Given the description of an element on the screen output the (x, y) to click on. 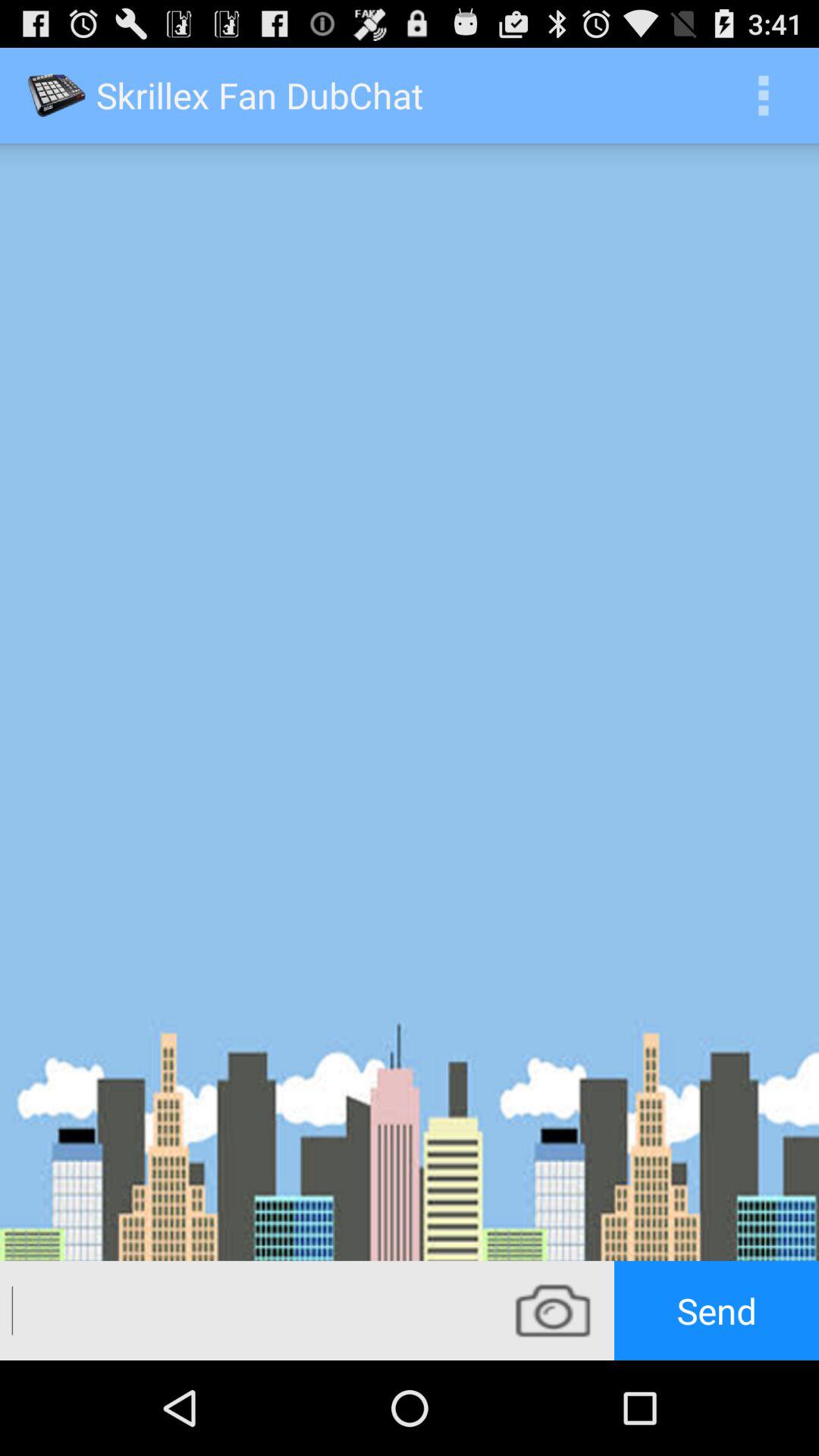
go to photos (552, 1310)
